Given the description of an element on the screen output the (x, y) to click on. 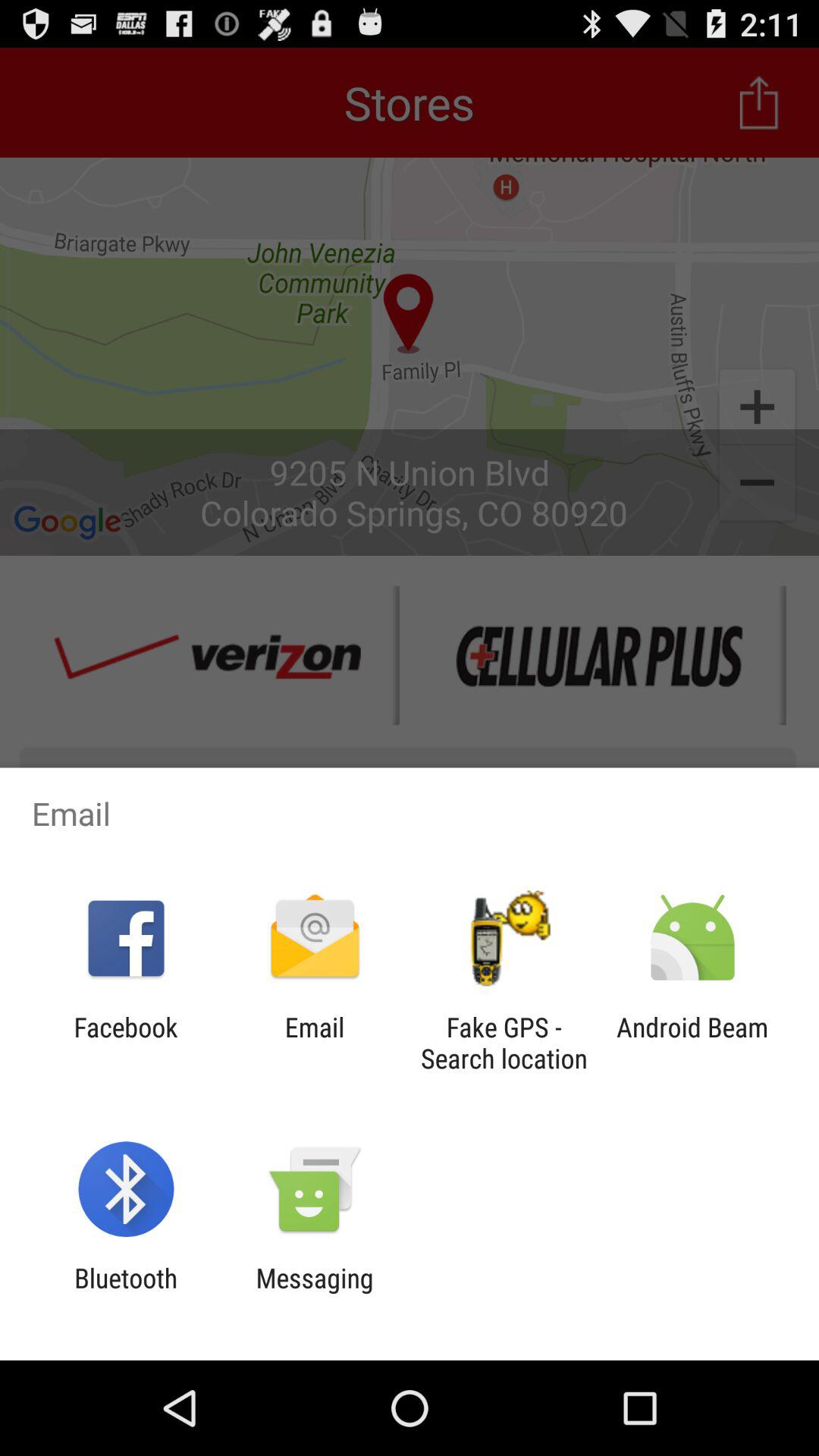
jump to messaging app (314, 1293)
